Given the description of an element on the screen output the (x, y) to click on. 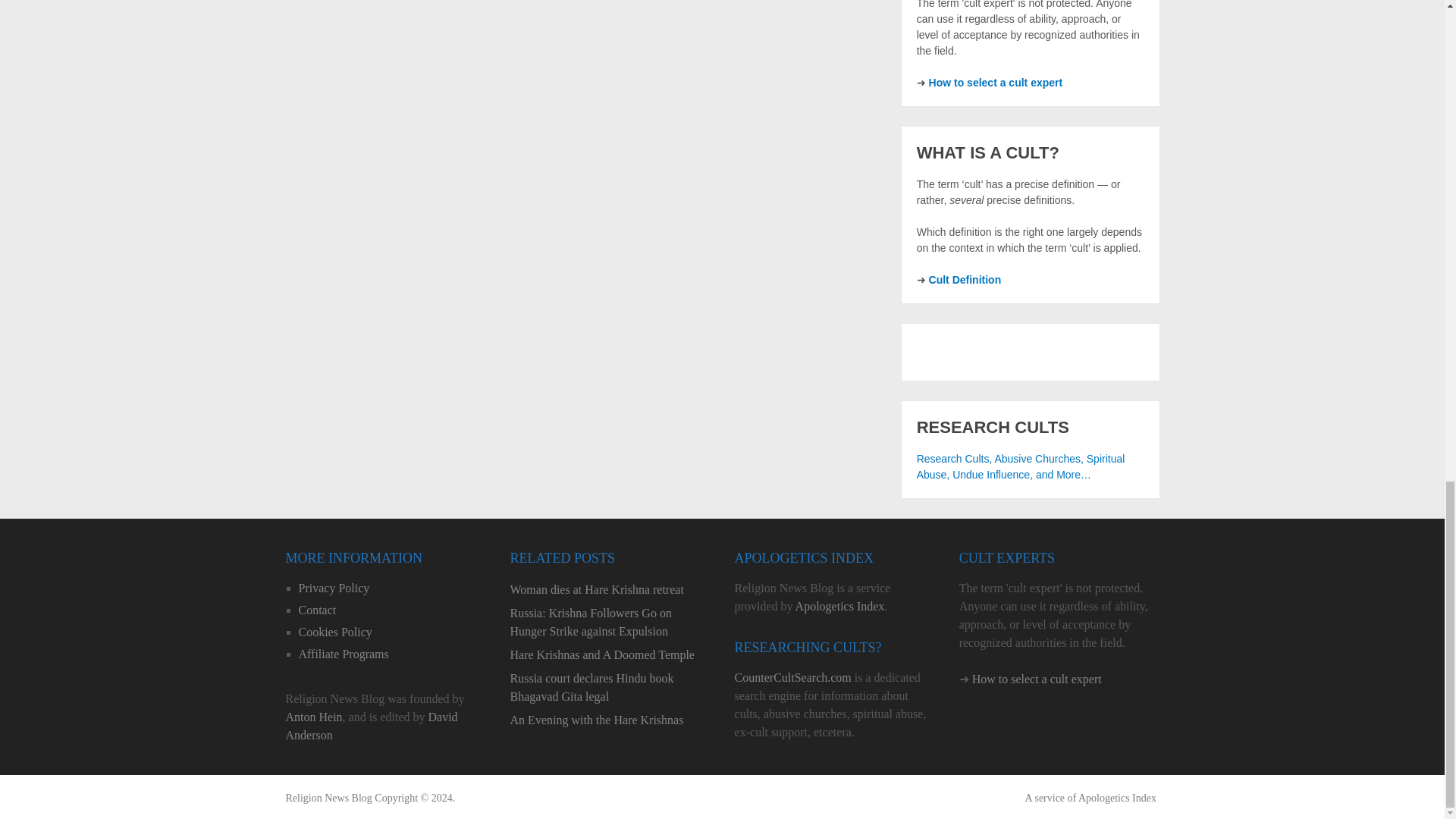
An Evening with the Hare Krishnas (610, 720)
David Anderson (371, 726)
Anton Hein (313, 716)
Woman dies at Hare Krishna retreat (610, 589)
Hare Krishnas and A Doomed Temple (610, 655)
 Religion news: religious cults, sects, and world religions (328, 797)
Affiliate Programs (343, 653)
How to select a cult expert (995, 82)
Contact (317, 609)
Cookies Policy (335, 631)
Privacy Policy (333, 587)
Cult Definition (964, 279)
Russia court declares Hindu book Bhagavad Gita legal (610, 687)
